Given the description of an element on the screen output the (x, y) to click on. 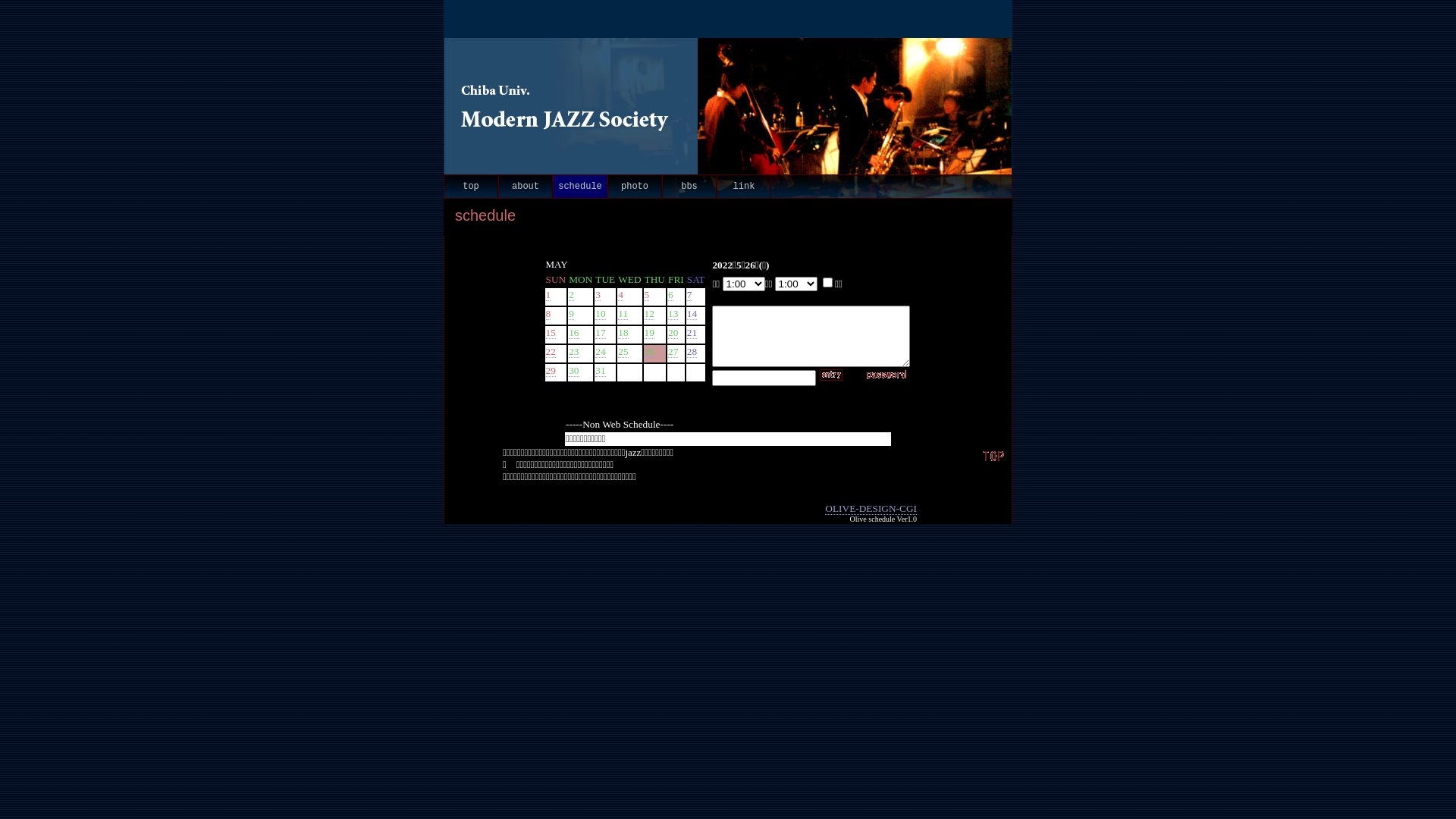
9 Element type: text (571, 313)
15 Element type: text (550, 332)
24 Element type: text (600, 351)
6 Element type: text (670, 294)
1 Element type: text (548, 294)
4 Element type: text (620, 294)
14 Element type: text (691, 313)
22 Element type: text (550, 351)
2 Element type: text (571, 294)
20 Element type: text (672, 332)
29 Element type: text (550, 370)
11 Element type: text (622, 313)
8 Element type: text (548, 313)
19 Element type: text (649, 332)
12 Element type: text (649, 313)
18 Element type: text (622, 332)
schedule Element type: text (579, 186)
13 Element type: text (672, 313)
10 Element type: text (600, 313)
28 Element type: text (691, 351)
17 Element type: text (600, 332)
3 Element type: text (597, 294)
5 Element type: text (646, 294)
link Element type: text (743, 186)
top Element type: text (470, 186)
bbs Element type: text (689, 186)
photo Element type: text (634, 186)
OLIVE-DESIGN-CGI Element type: text (870, 508)
26 Element type: text (649, 351)
7 Element type: text (689, 294)
21 Element type: text (691, 332)
27 Element type: text (672, 351)
16 Element type: text (573, 332)
23 Element type: text (573, 351)
25 Element type: text (622, 351)
about Element type: text (525, 186)
31 Element type: text (600, 370)
30 Element type: text (573, 370)
